Given the description of an element on the screen output the (x, y) to click on. 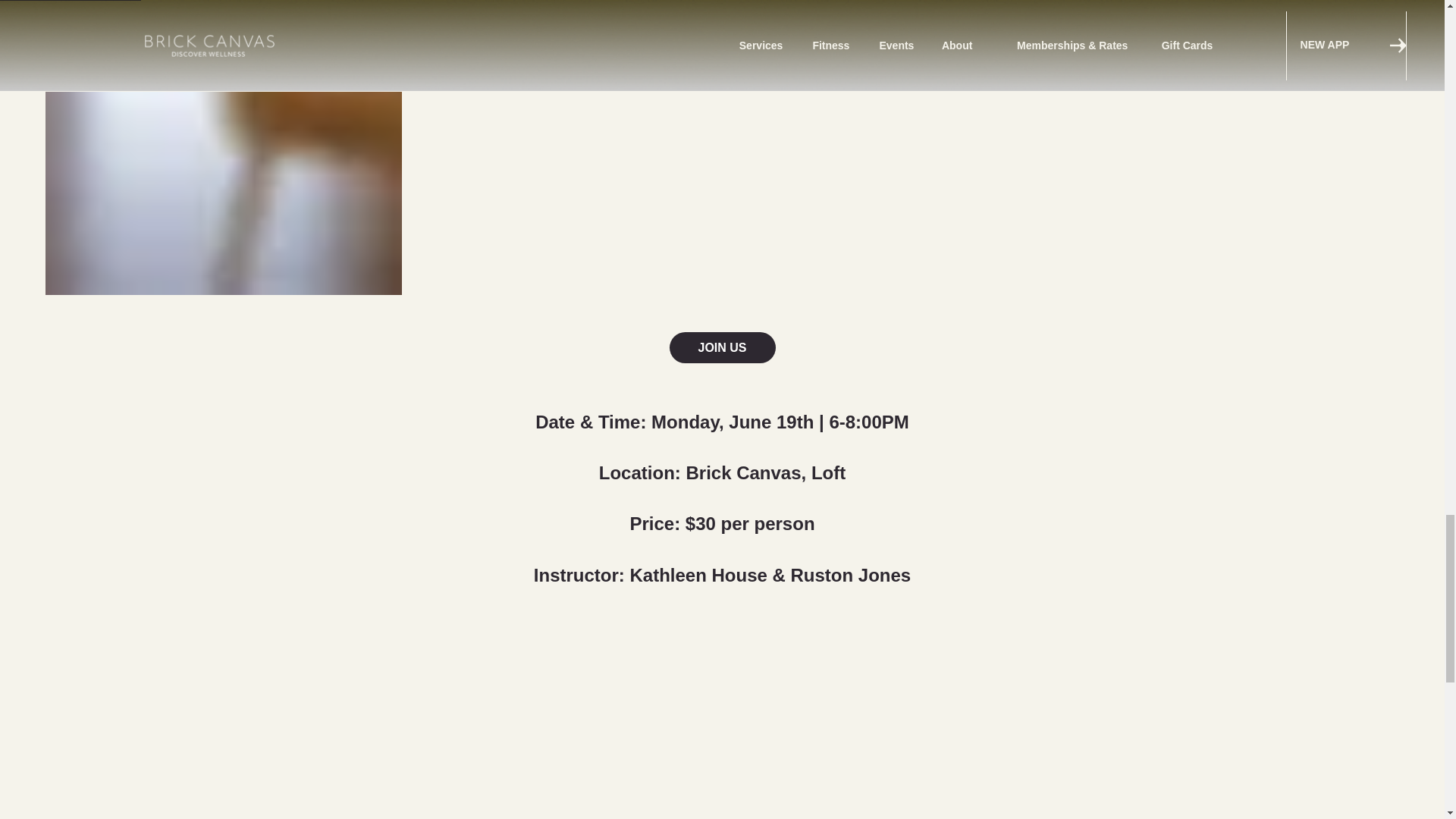
JOIN US (721, 347)
